Given the description of an element on the screen output the (x, y) to click on. 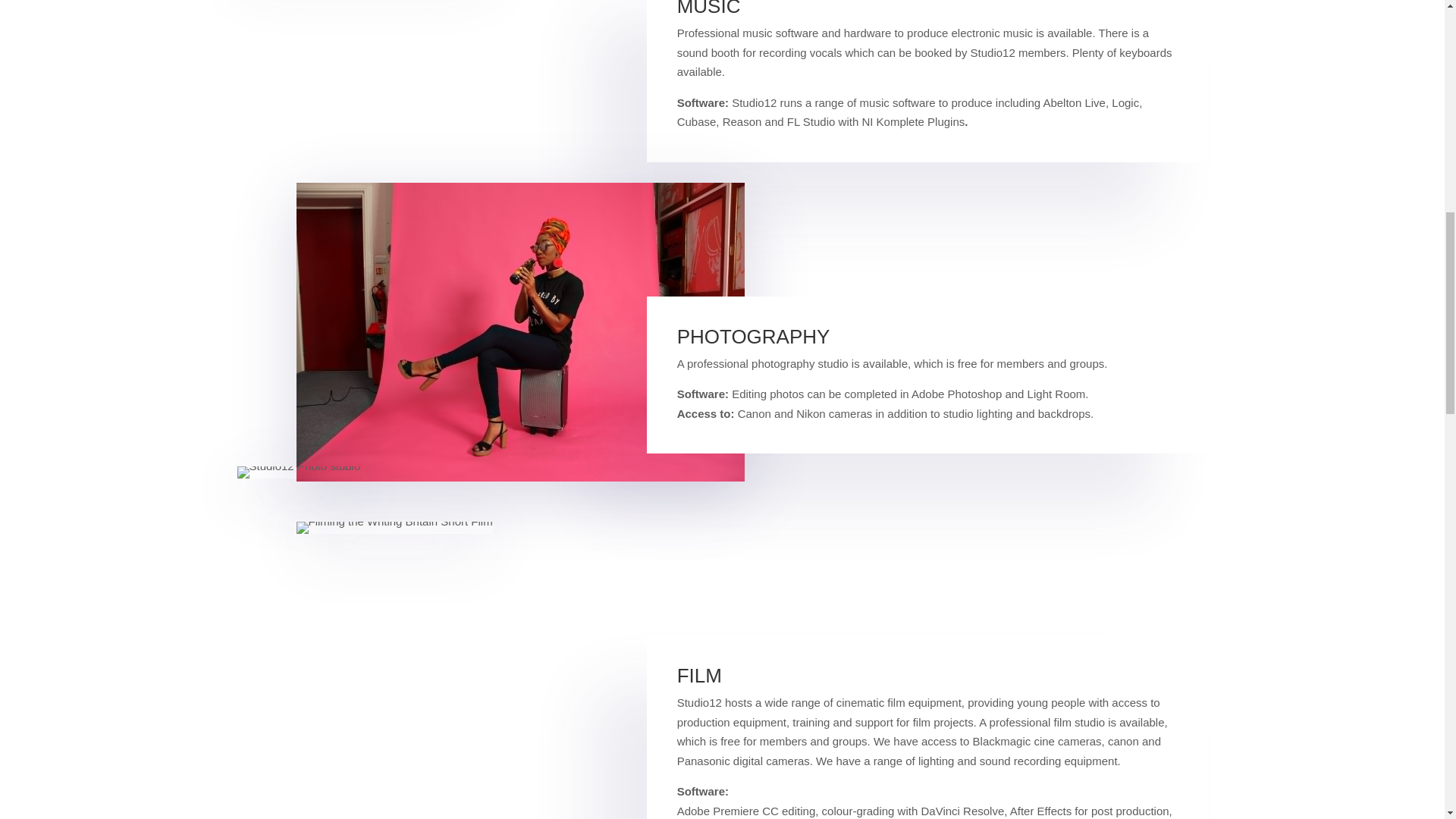
Page 4 (927, 742)
Page 4 (927, 375)
Page 4 (927, 65)
